Given the description of an element on the screen output the (x, y) to click on. 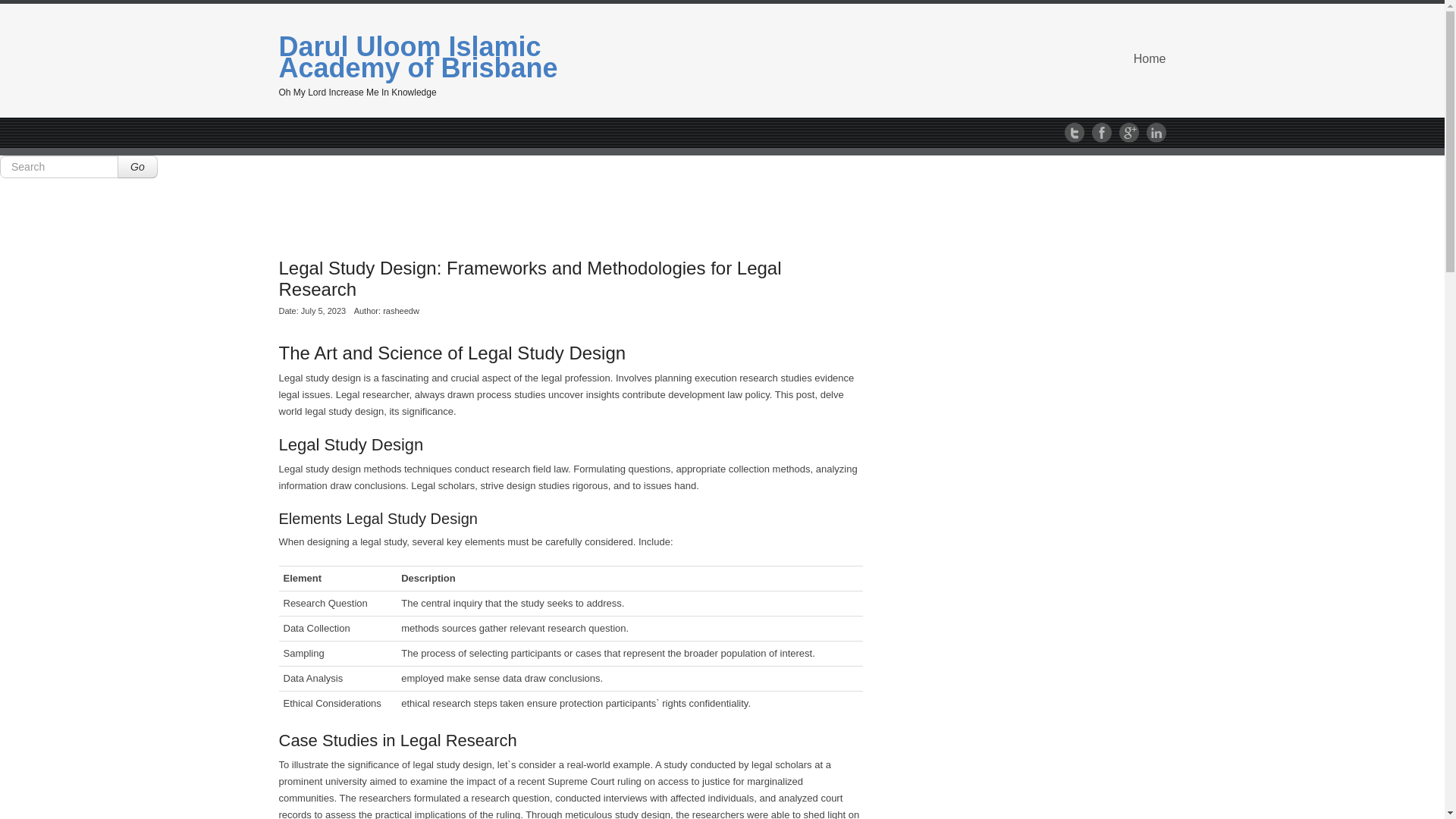
Go (137, 166)
Darul Uloom Islamic Academy of Brisbane (418, 57)
Darul Uloom Islamic Academy of Brisbane (418, 57)
